Given the description of an element on the screen output the (x, y) to click on. 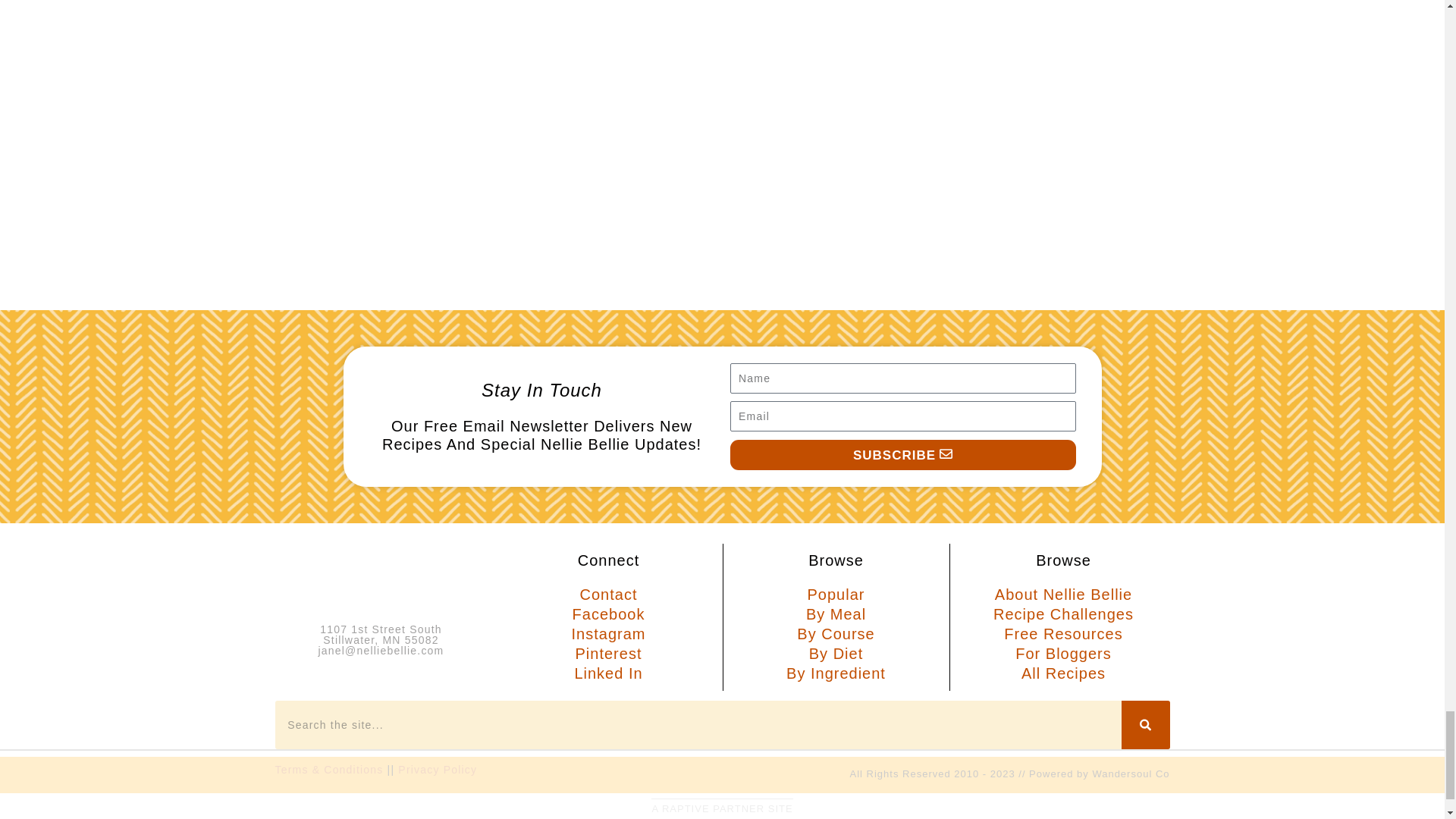
cropped-coconut-lime-french-soda.jpg (842, 189)
chicken florentine4 (601, 189)
cropped-DisneyCopyCatFriedPickles-Finals-30-scaled-1.jpg (1324, 189)
1.6-copy (360, 189)
zuchinnibarssourcream-1 (120, 189)
cropped-Spicy-White-Chicken-Enchiladas-11-scaled-1.jpg (1083, 189)
